Given the description of an element on the screen output the (x, y) to click on. 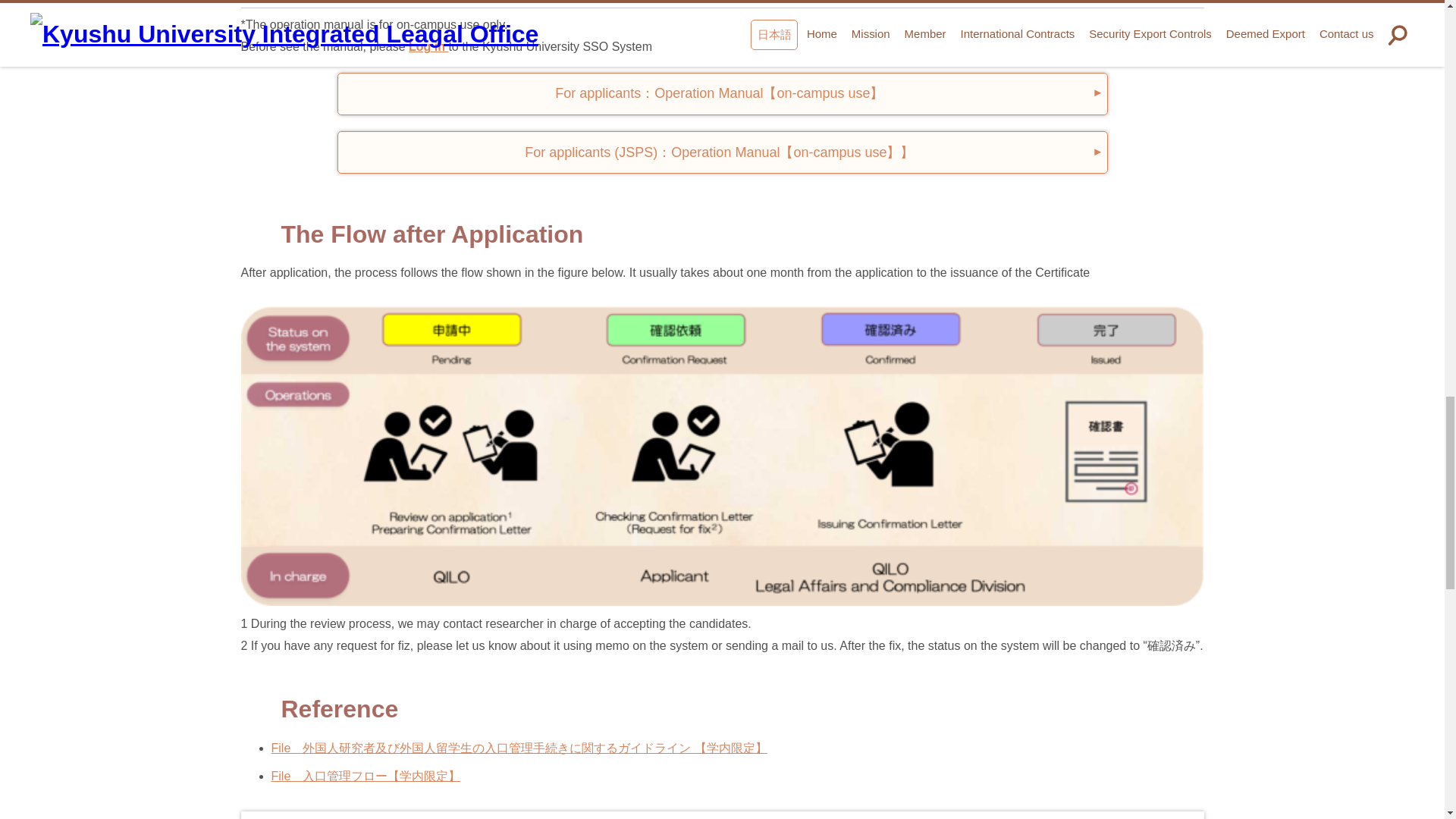
Log in (428, 46)
